Given the description of an element on the screen output the (x, y) to click on. 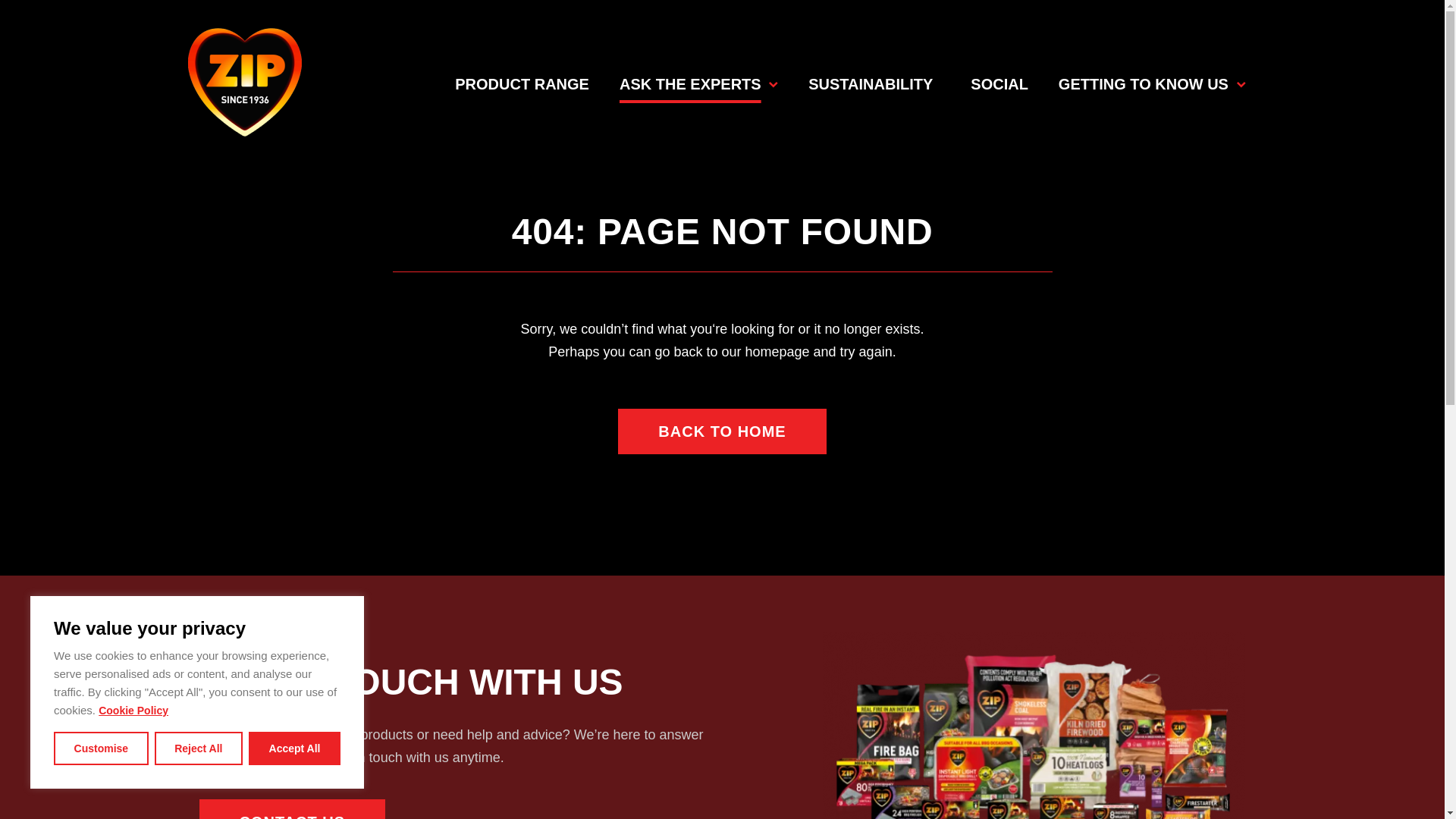
Accept All (294, 748)
Customise (100, 748)
Cookie Policy (133, 710)
PRODUCT RANGE (521, 81)
ASK THE EXPERTS (698, 81)
Reject All (198, 748)
SOCIAL (999, 81)
SUSTAINABILITY (870, 81)
GETTING TO KNOW US (1151, 81)
